Given the description of an element on the screen output the (x, y) to click on. 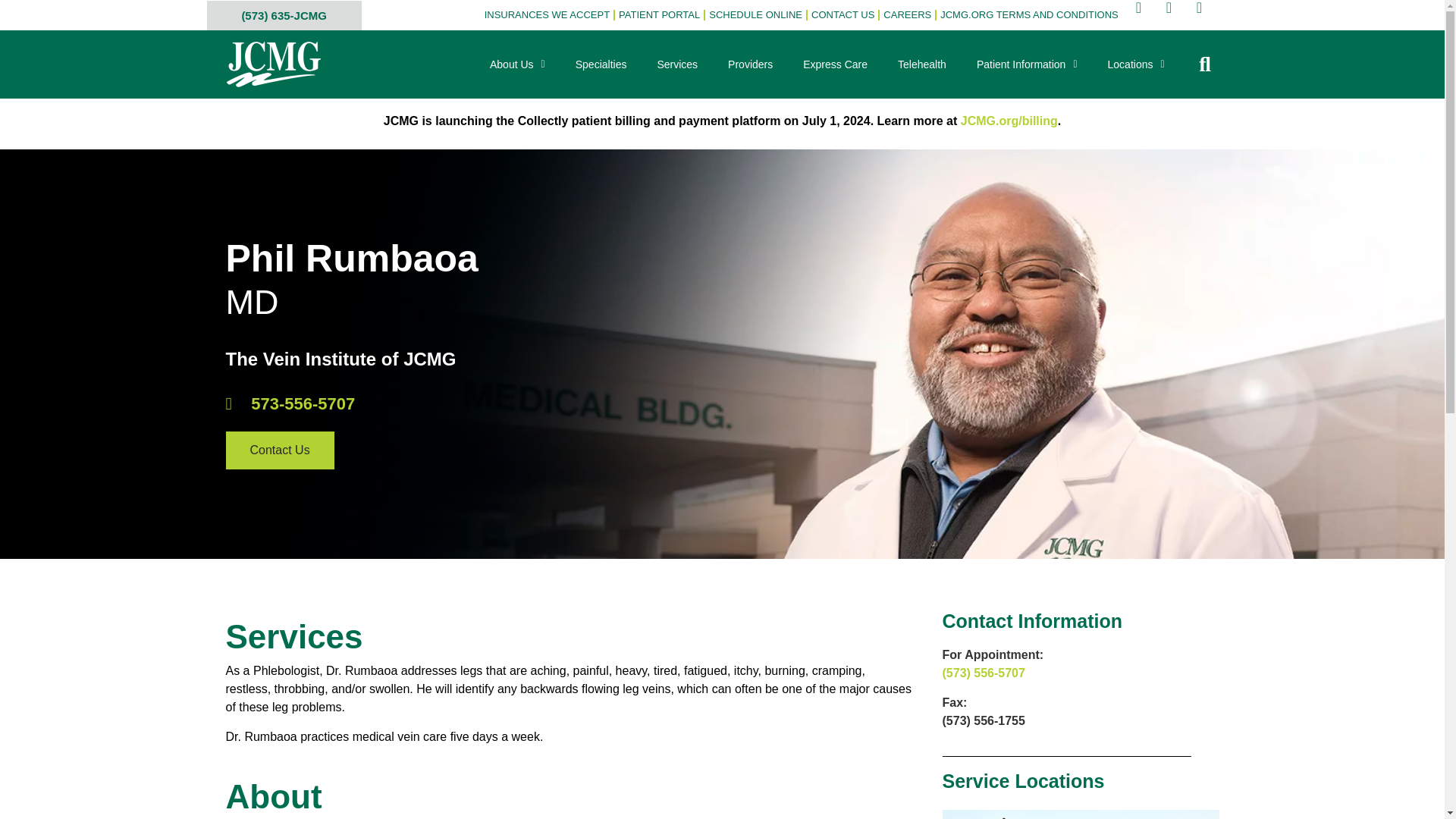
Express Care (834, 64)
Telehealth (921, 64)
SCHEDULE ONLINE (755, 15)
CONTACT US (842, 15)
About Us (517, 64)
Patient Information (1026, 64)
Providers (750, 64)
PATIENT PORTAL (658, 15)
JCMG.ORG TERMS AND CONDITIONS (1029, 15)
Services (677, 64)
